Given the description of an element on the screen output the (x, y) to click on. 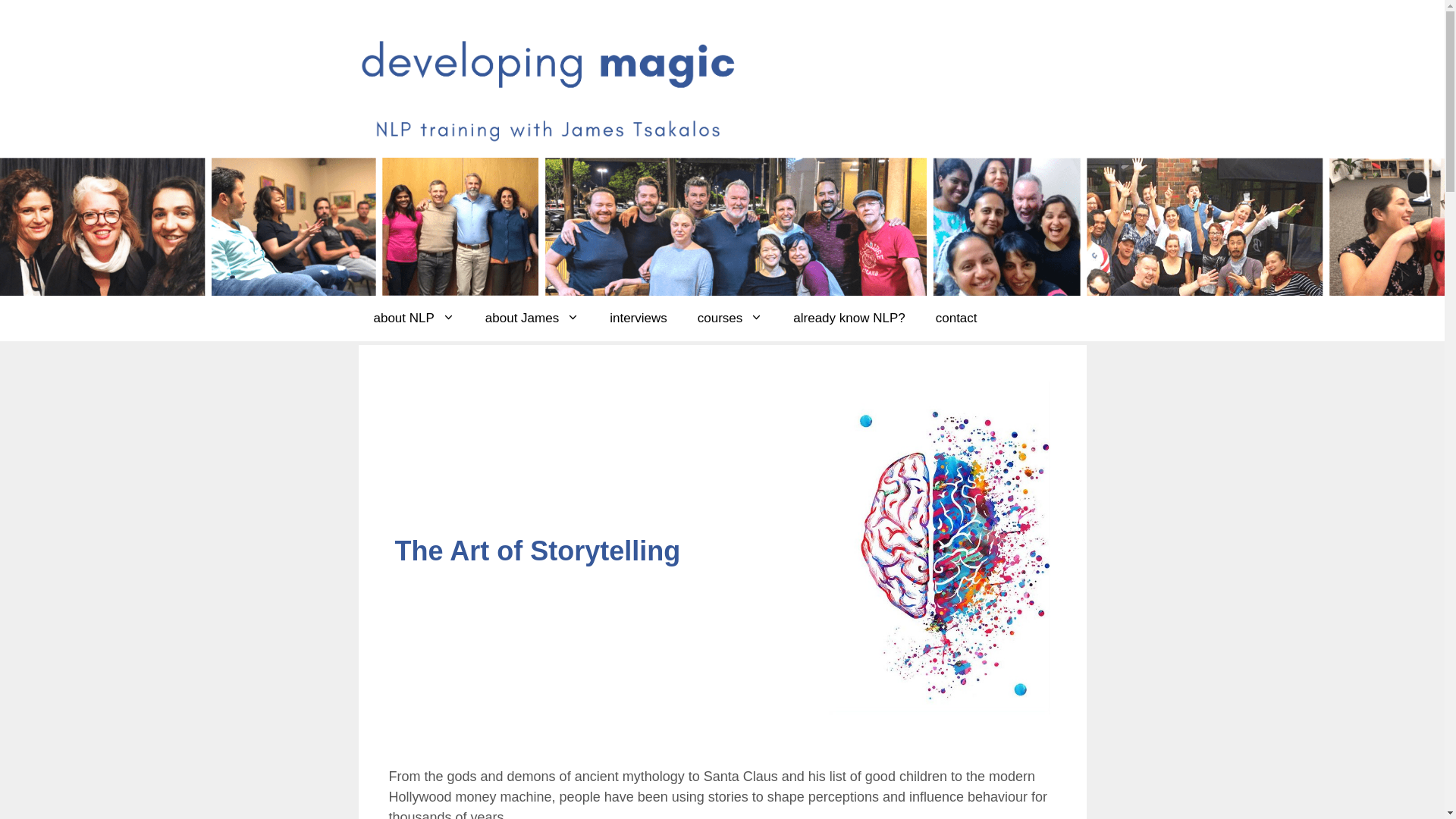
courses Element type: text (730, 318)
interviews Element type: text (638, 318)
about NLP Element type: text (413, 318)
already know NLP? Element type: text (848, 318)
about James Element type: text (532, 318)
contact Element type: text (956, 318)
